Given the description of an element on the screen output the (x, y) to click on. 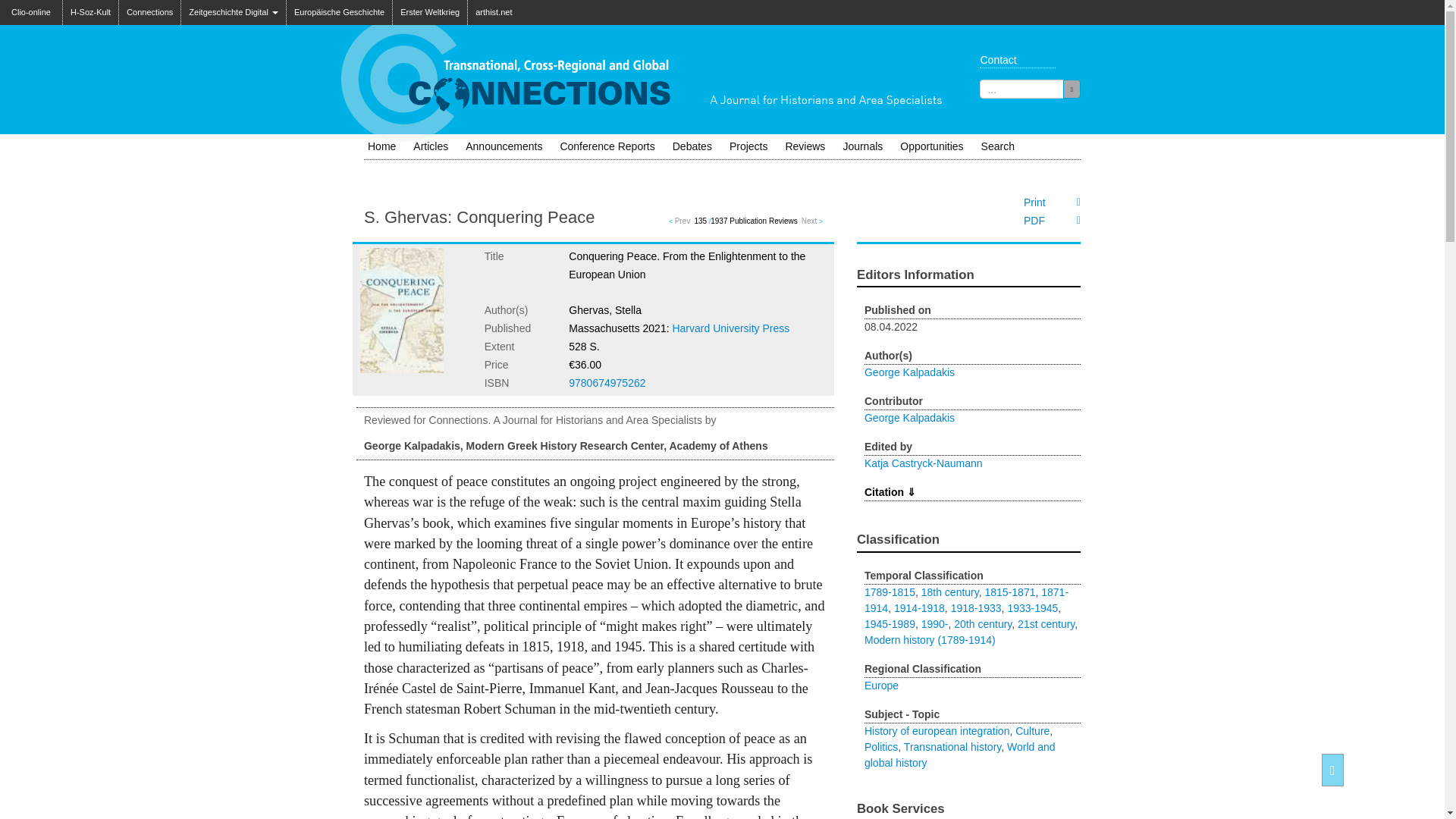
Home (381, 146)
Articles (430, 146)
H-Soz-Kult (89, 12)
Clio-online (31, 7)
arthist.net (493, 12)
Erster Weltkrieg (430, 12)
Connections (149, 12)
Contact (1013, 59)
Zeitgeschichte Digital (232, 12)
Reviews (804, 146)
Projects (749, 146)
Conference Reports (606, 146)
Announcements (504, 146)
Opportunities (931, 146)
Search (998, 146)
